Given the description of an element on the screen output the (x, y) to click on. 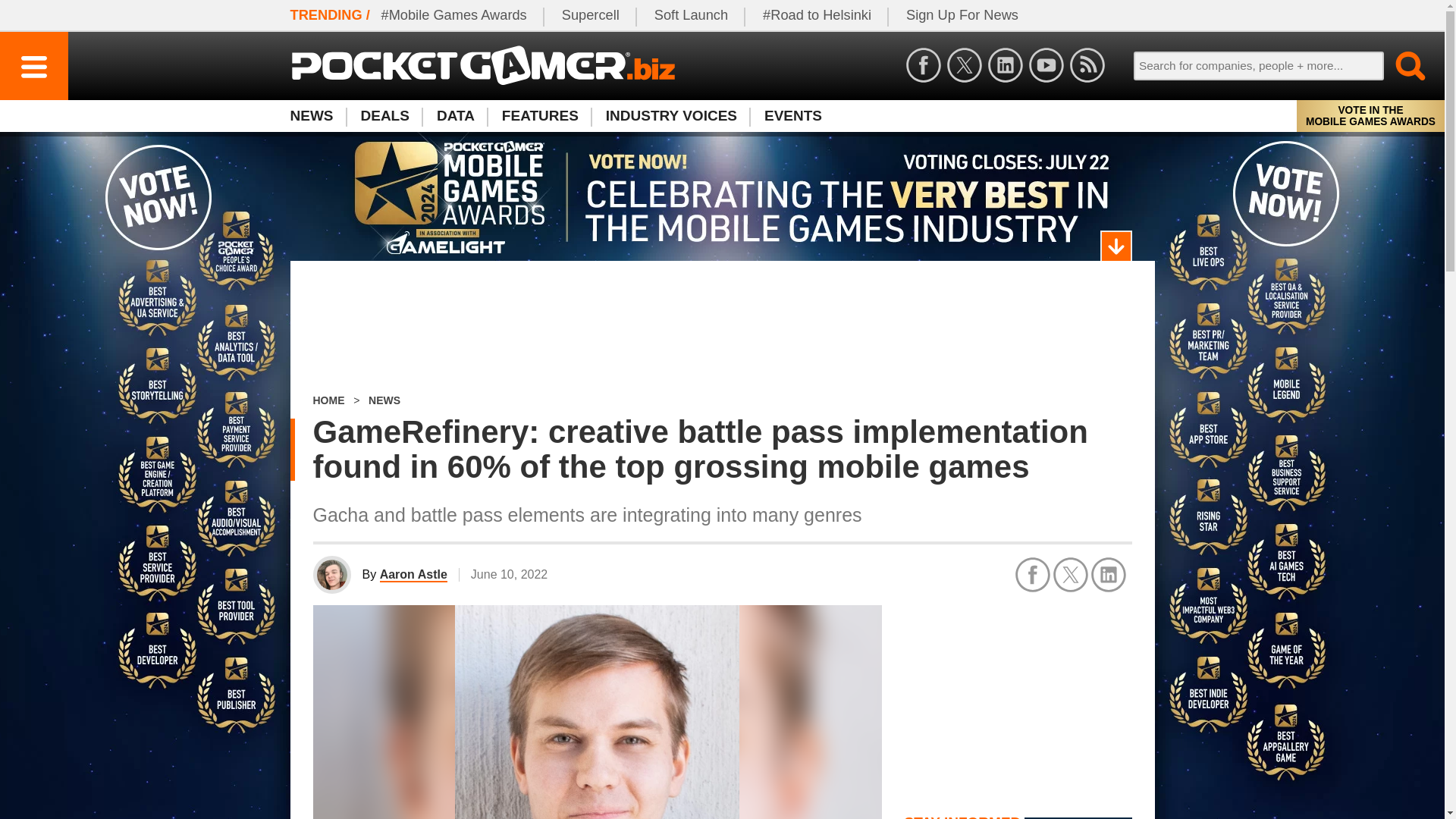
3rd party ad content (722, 328)
Supercell (590, 15)
NEWS (384, 400)
Aaron Astle (413, 575)
INDUSTRY VOICES (671, 115)
Soft Launch (691, 15)
3rd party ad content (1017, 699)
Sign Up For News (961, 15)
Go (1402, 65)
HOME (328, 400)
NEWS (317, 115)
DATA (455, 115)
DEALS (385, 115)
Go (1402, 65)
